Given the description of an element on the screen output the (x, y) to click on. 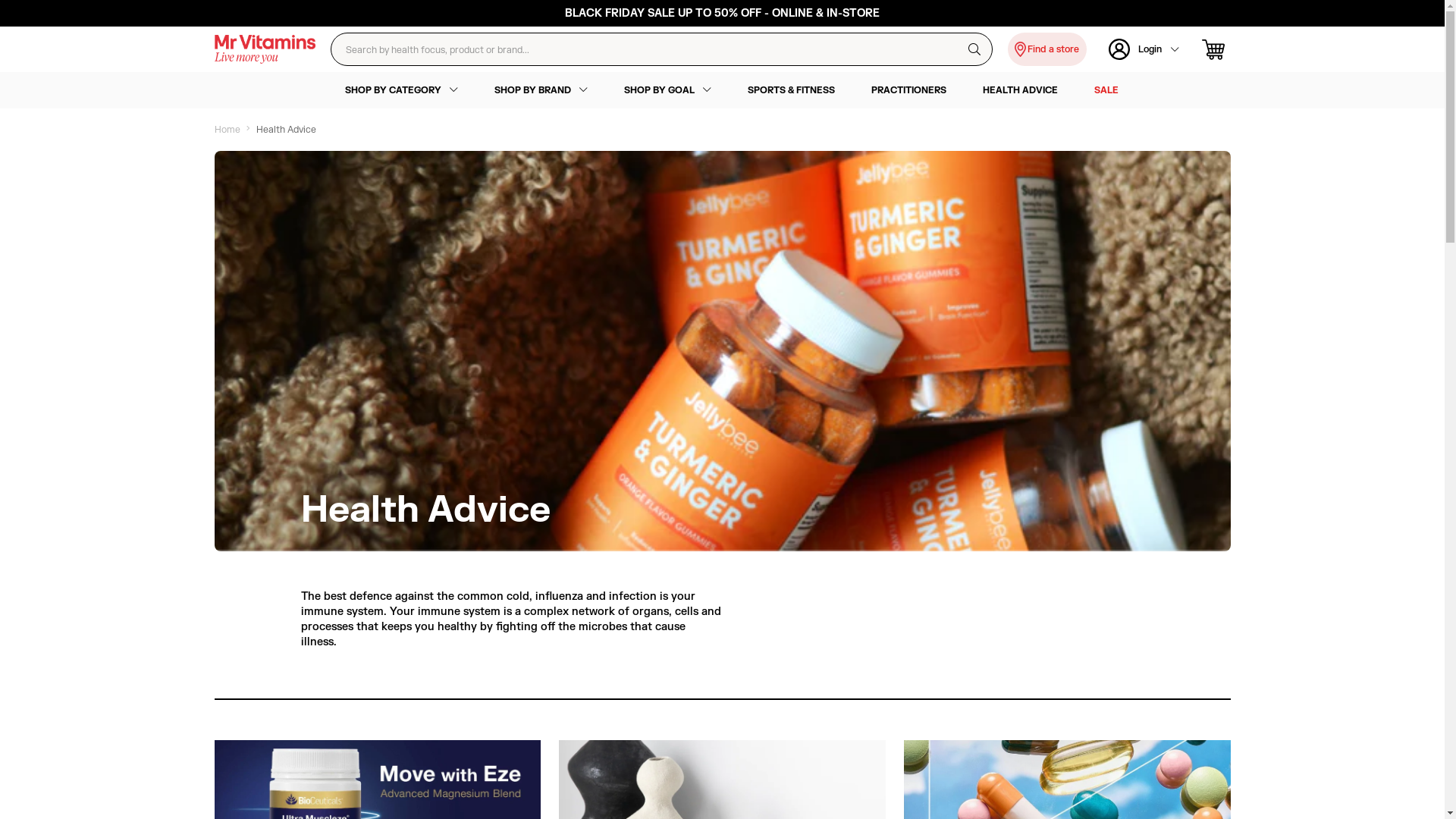
SHOP BY GOAL Element type: text (666, 90)
SPORTS & FITNESS Element type: text (791, 90)
SHOP BY CATEGORY Element type: text (400, 90)
SALE Element type: text (1105, 90)
Mr Vitamins Element type: hover (264, 48)
Bag Element type: hover (1215, 49)
HEALTH ADVICE Element type: text (1019, 90)
Find a store Element type: text (1046, 48)
Login Element type: text (1143, 48)
Home Element type: text (226, 129)
SHOP BY BRAND Element type: text (540, 90)
PRACTITIONERS Element type: text (907, 90)
